Given the description of an element on the screen output the (x, y) to click on. 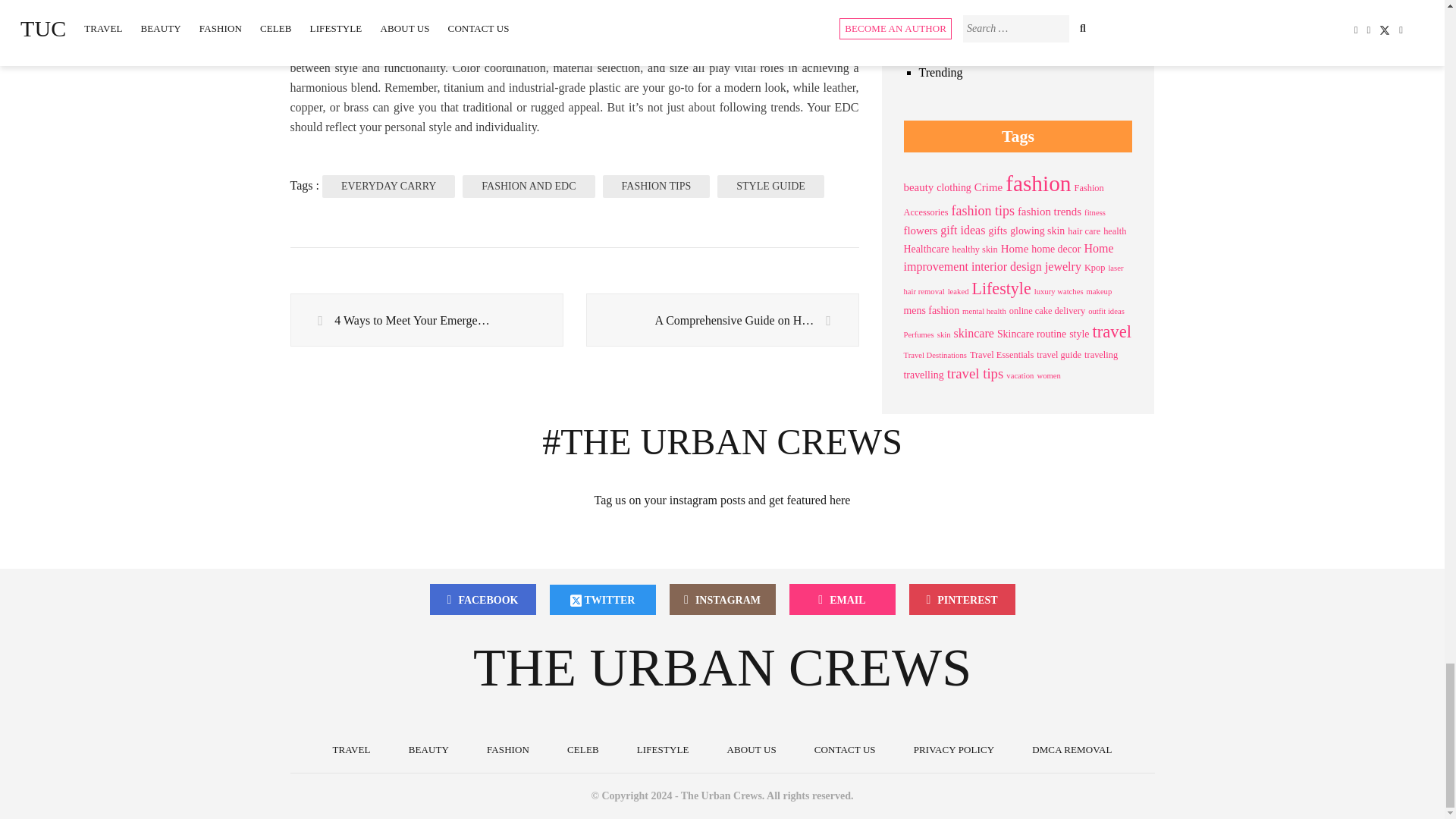
FASHION AND EDC (528, 186)
FASHION TIPS (656, 186)
4 Ways to Meet Your Emergency Financial Needs (426, 320)
EVERYDAY CARRY (387, 186)
4 Ways to Meet Your Emergency Financial Needs (426, 320)
A Comprehensive Guide on How to Style Sneakers (722, 320)
STYLE GUIDE (770, 186)
